Given the description of an element on the screen output the (x, y) to click on. 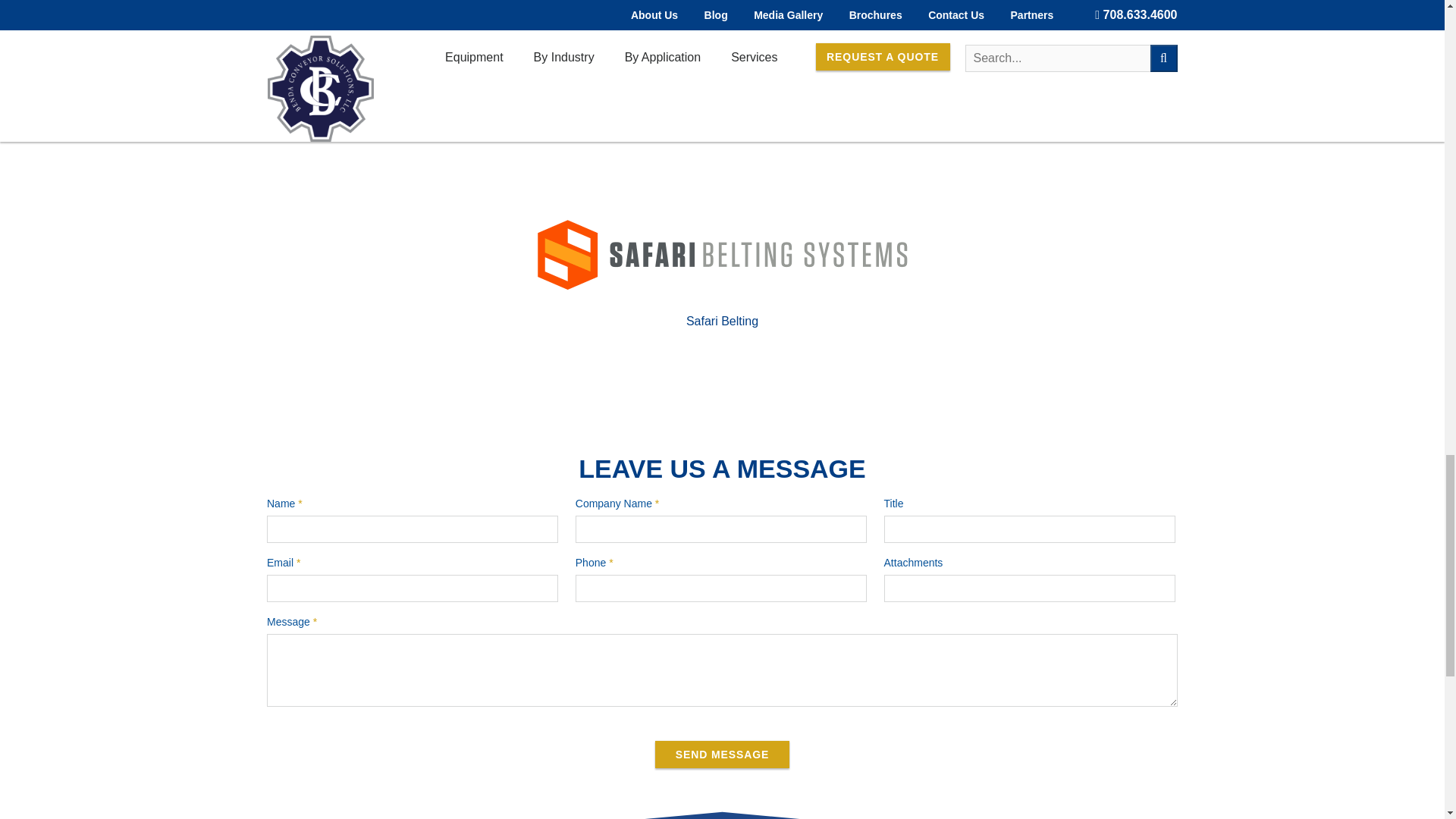
Send Message (722, 754)
